Given the description of an element on the screen output the (x, y) to click on. 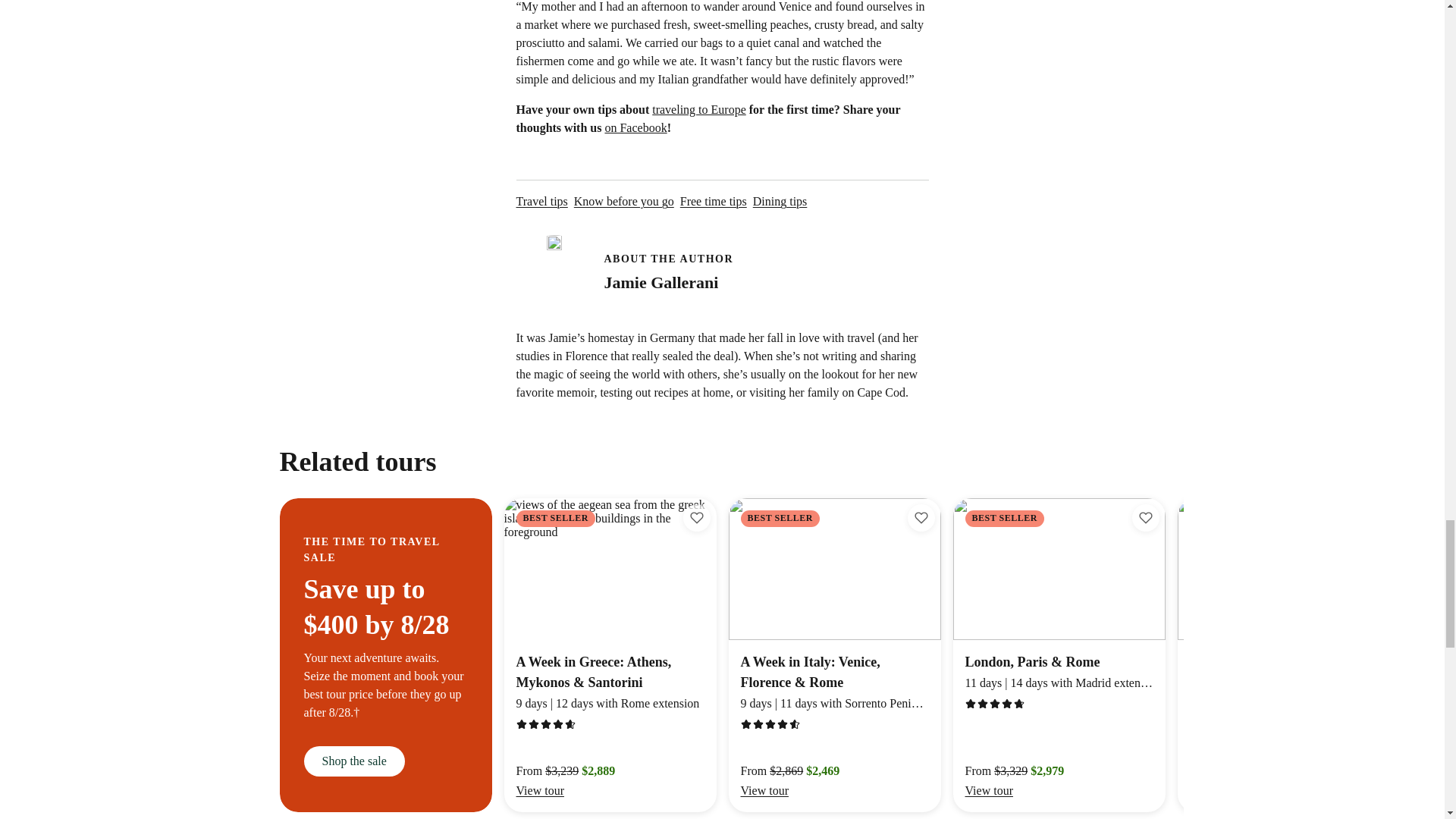
on Facebook (635, 127)
Know before you go (623, 201)
traveling to Europe (721, 260)
Travel tips (698, 109)
Free time tips (541, 201)
Shop the sale (713, 201)
Skip to end of carousel (353, 761)
